Given the description of an element on the screen output the (x, y) to click on. 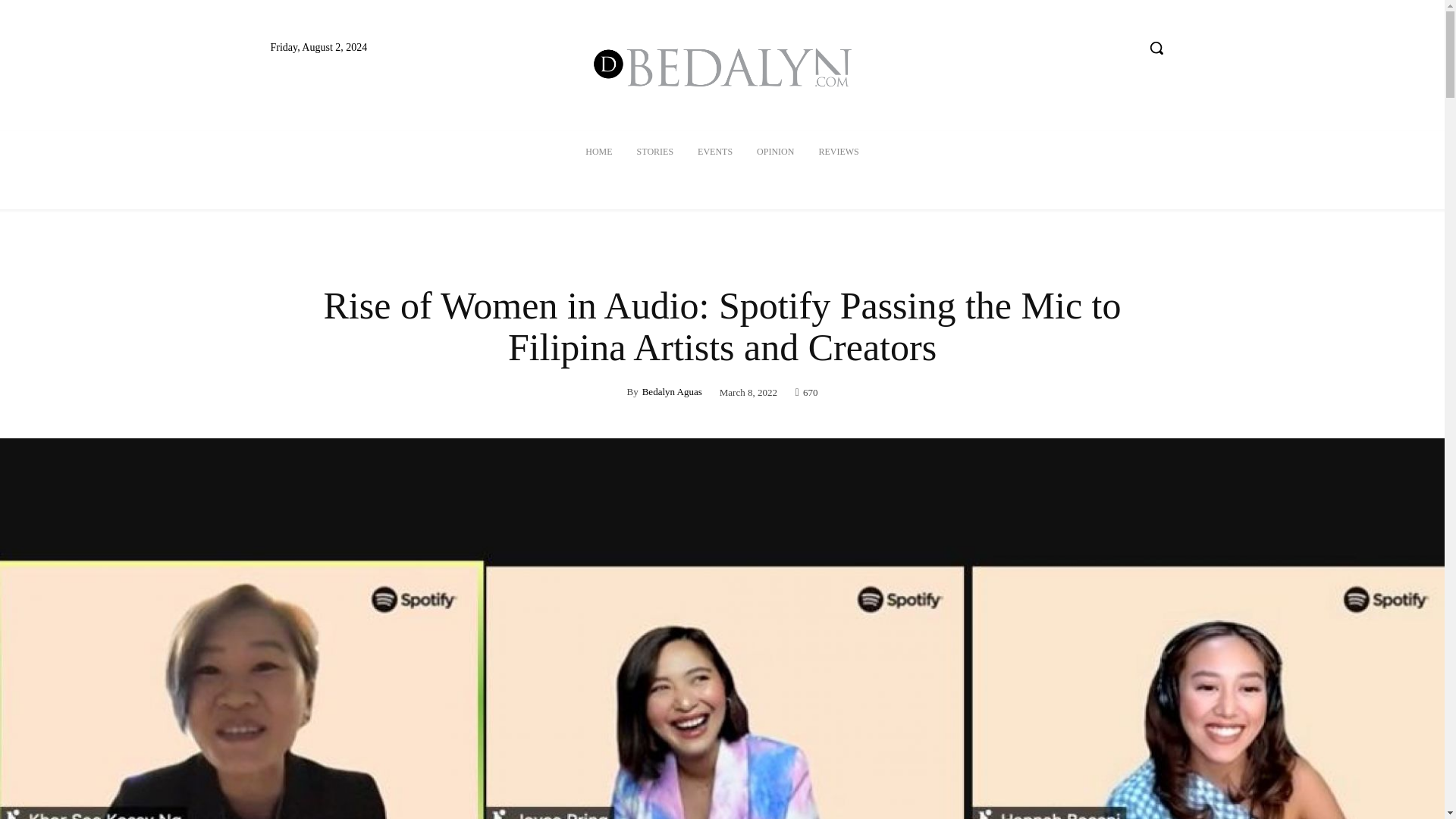
EVENTS (714, 151)
HOME (598, 151)
OPINION (775, 151)
Bedalyn Aguas (671, 391)
STORIES (654, 151)
REVIEWS (838, 151)
